Given the description of an element on the screen output the (x, y) to click on. 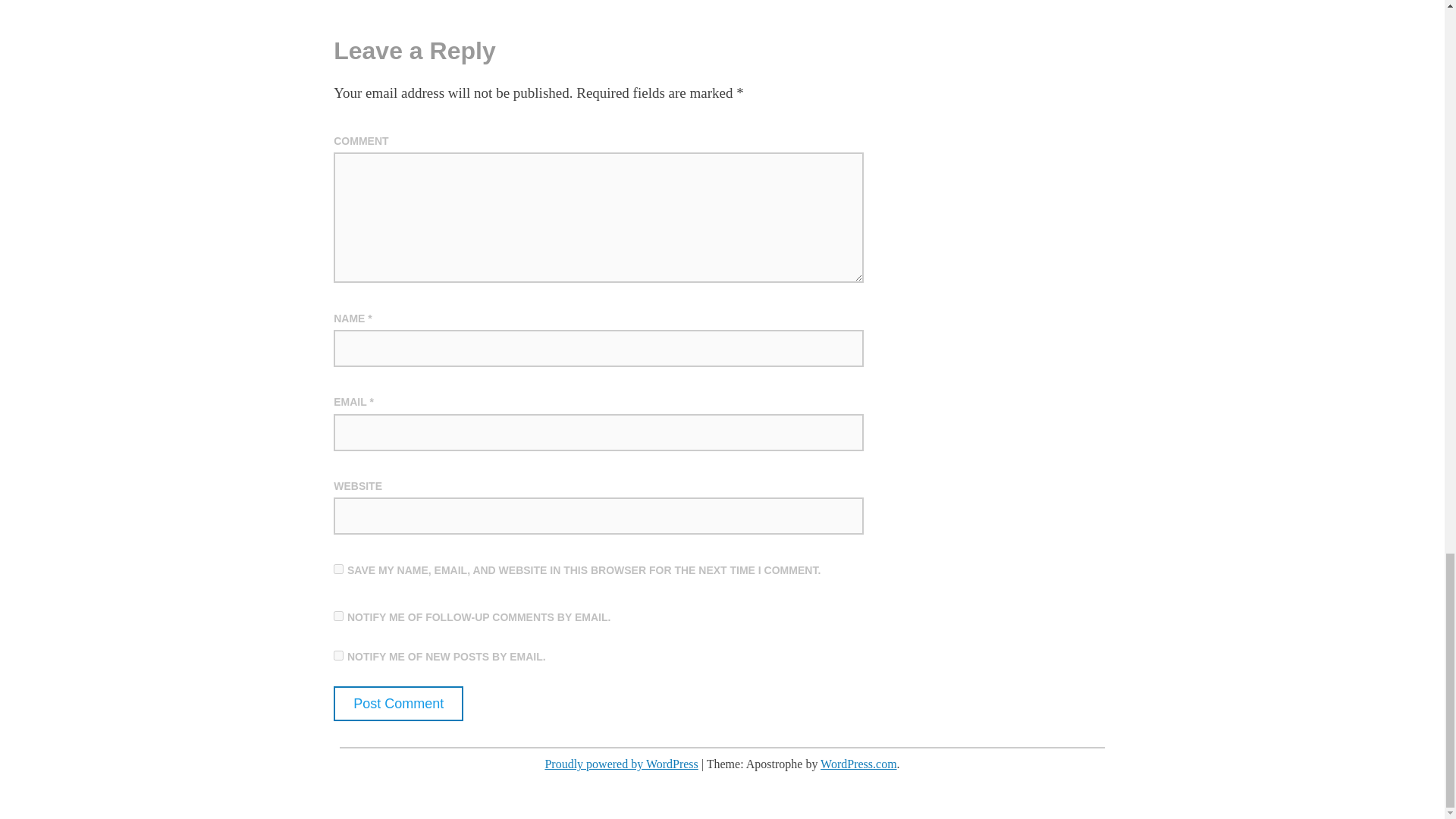
subscribe (338, 655)
yes (338, 569)
Post Comment (398, 703)
subscribe (338, 615)
Post Comment (398, 703)
